Given the description of an element on the screen output the (x, y) to click on. 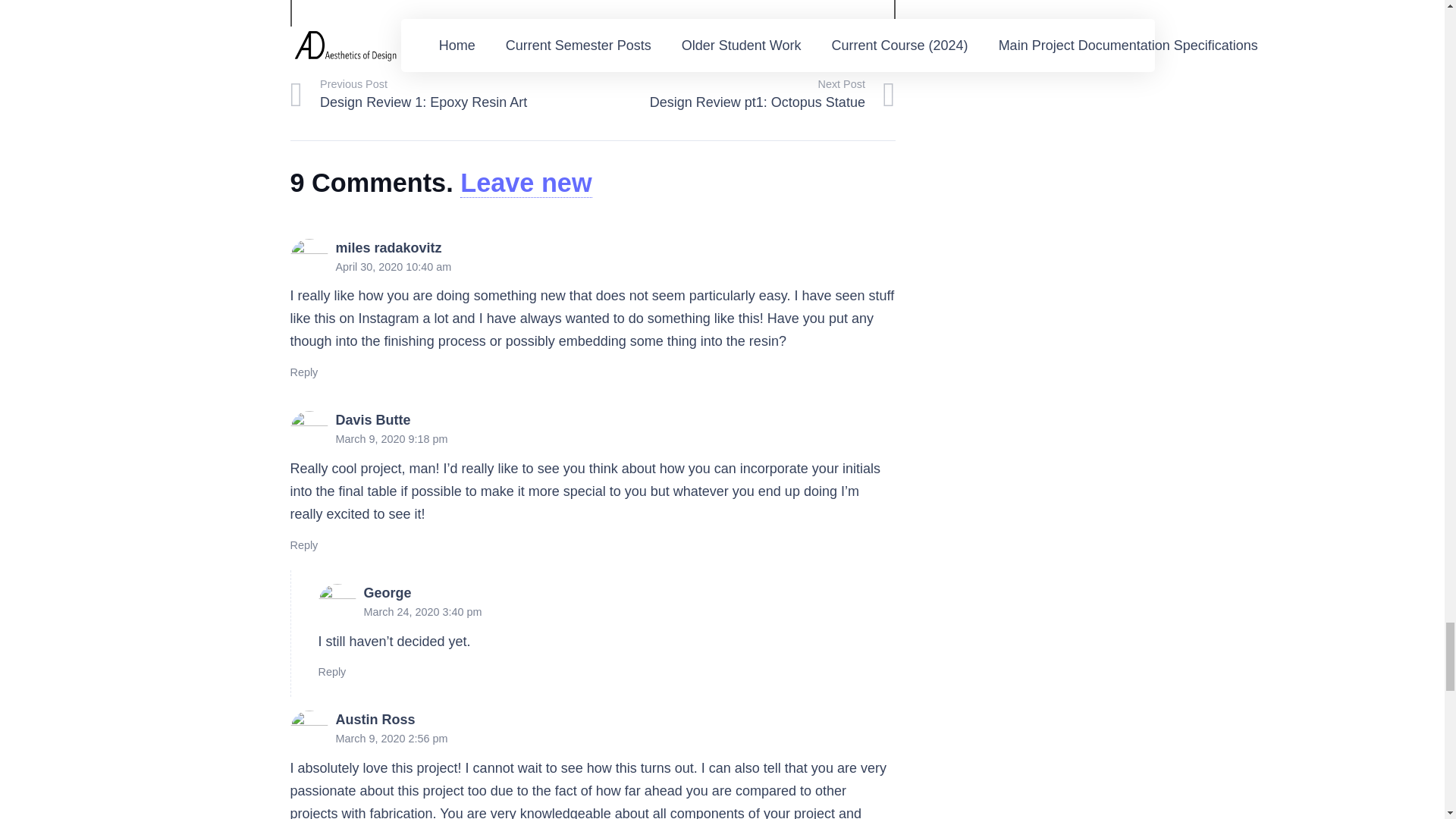
March 9, 2020 9:18 pm (390, 439)
March 24, 2020 3:40 pm (422, 612)
April 30, 2020 10:40 am (392, 266)
March 9, 2020 2:56 pm (390, 738)
Design Review pt1: Octopus Statue (743, 94)
Design Review 1: Epoxy Resin Art (440, 94)
